Given the description of an element on the screen output the (x, y) to click on. 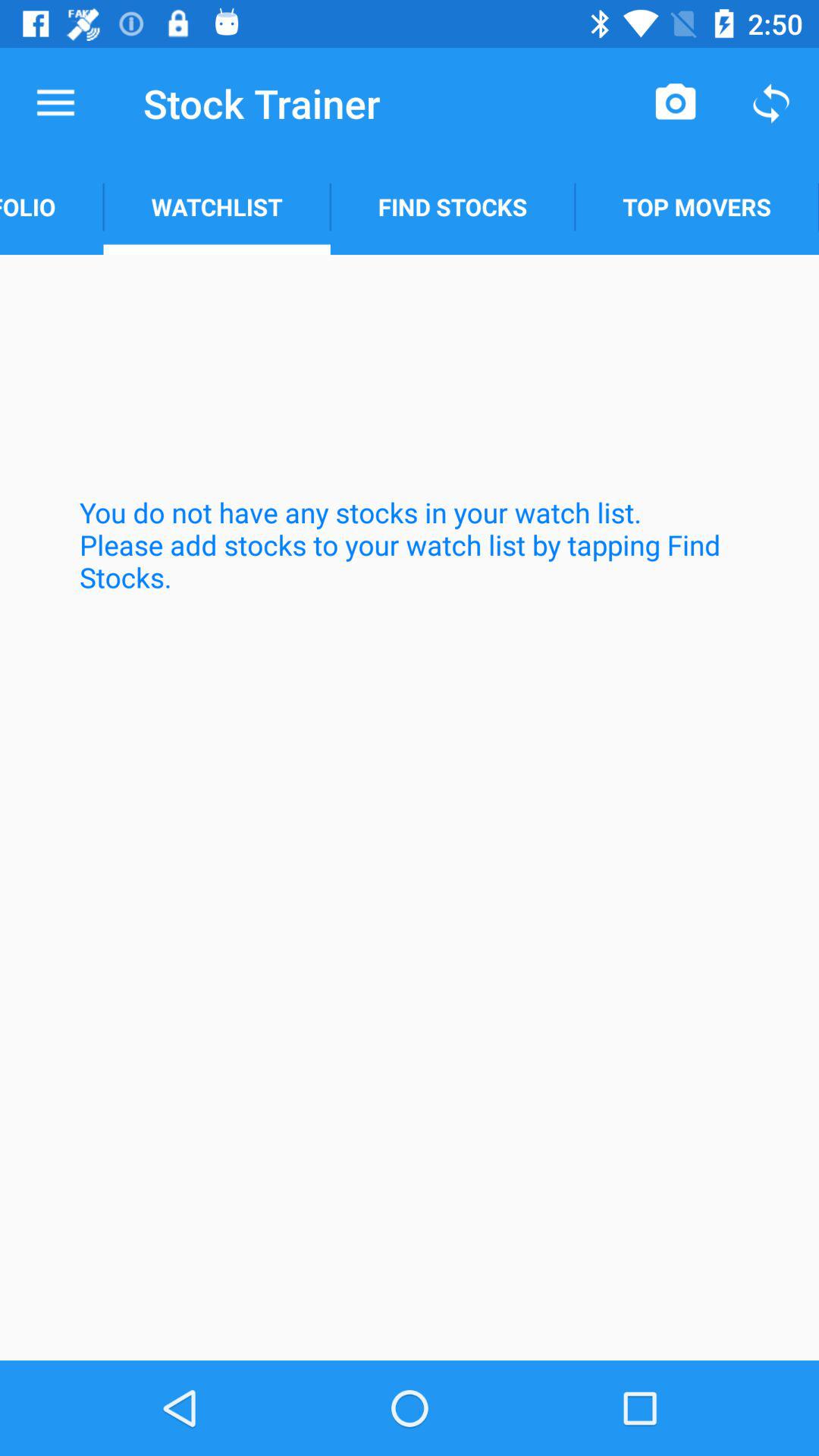
swipe until the watchlist item (216, 206)
